Given the description of an element on the screen output the (x, y) to click on. 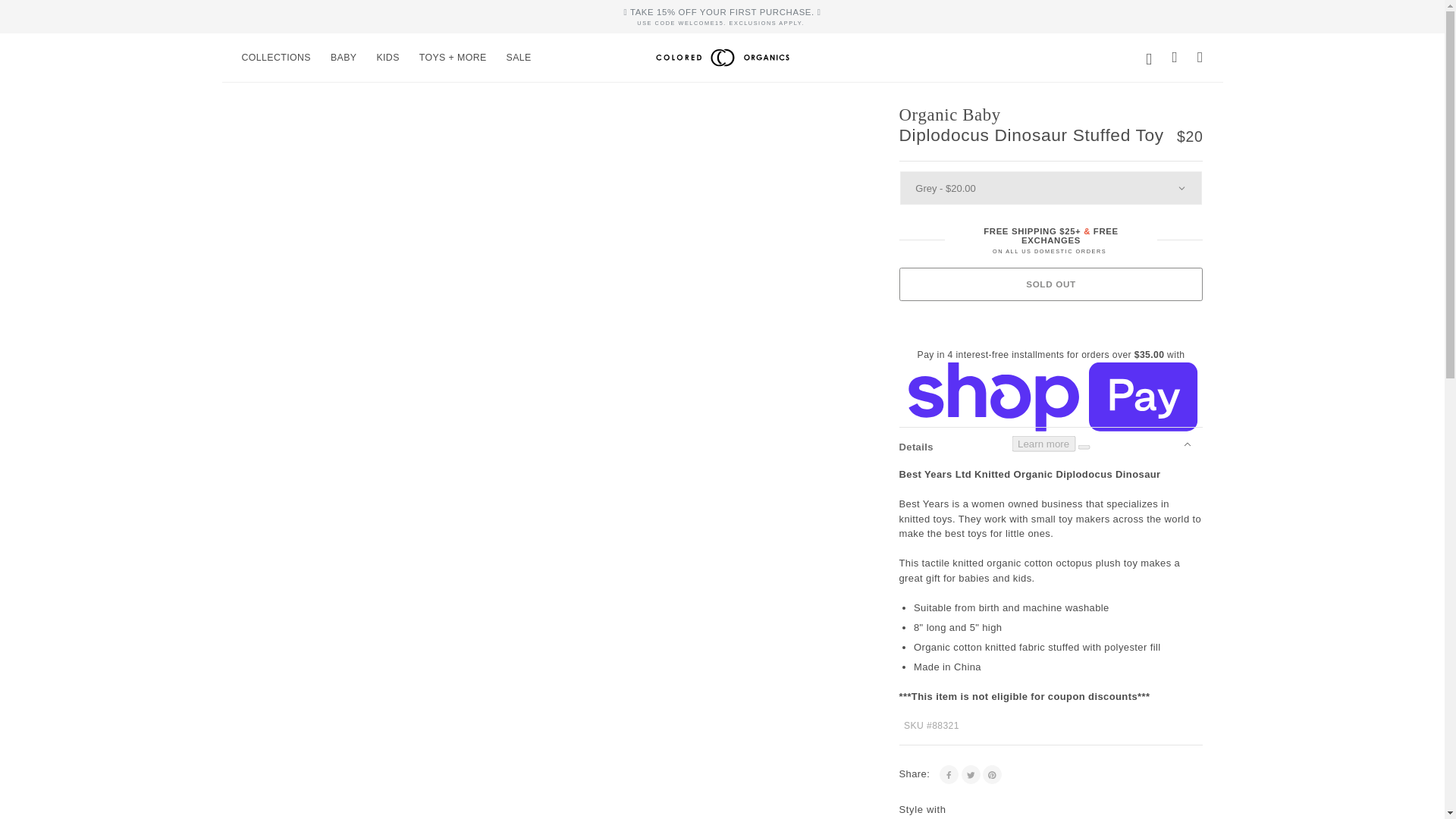
COLLECTIONS (275, 57)
BABY (343, 57)
Collections (275, 57)
